Given the description of an element on the screen output the (x, y) to click on. 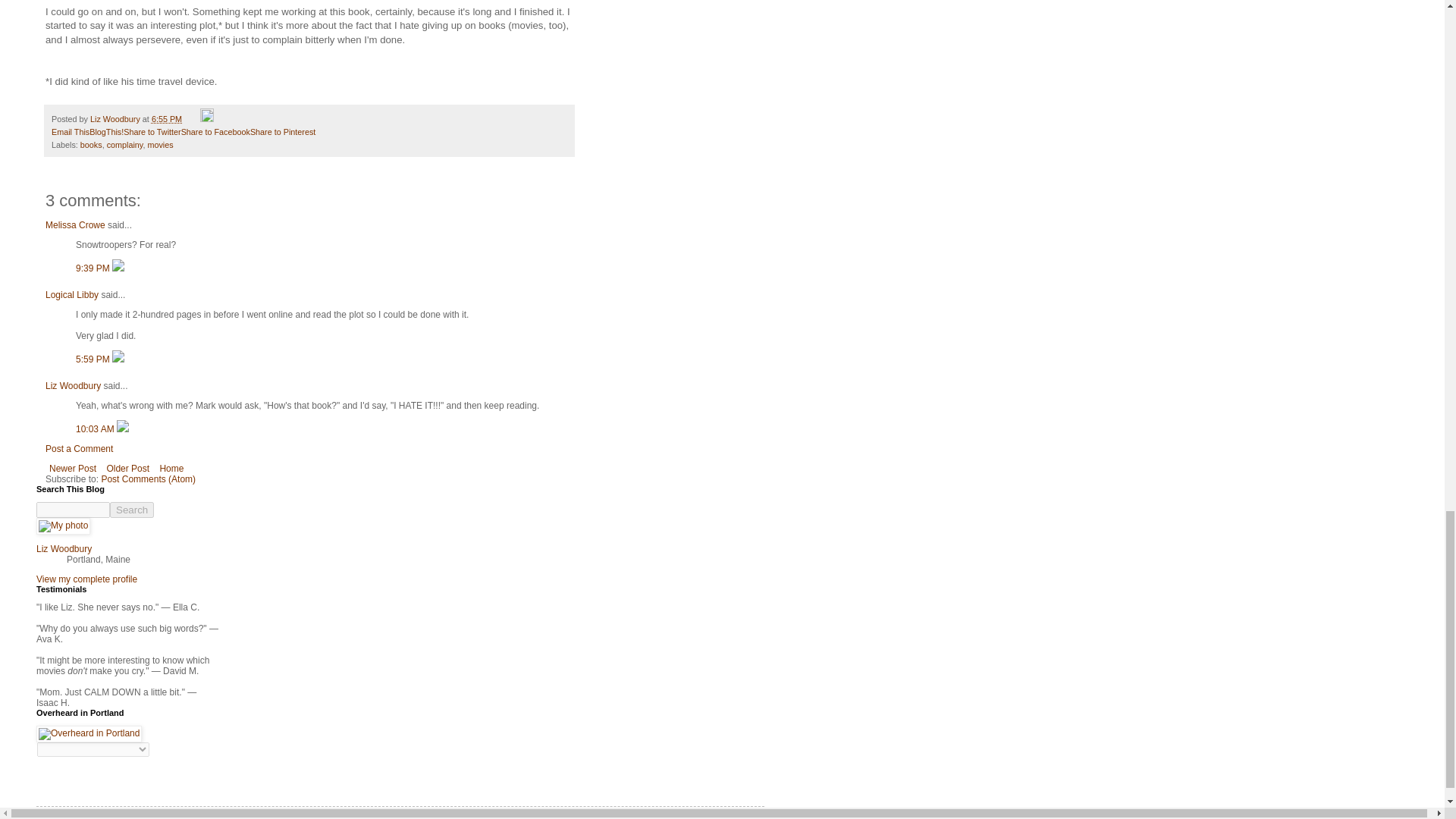
books (90, 144)
Share to Twitter (151, 131)
9:39 PM (93, 267)
Post a Comment (79, 448)
BlogThis! (105, 131)
Delete Comment (117, 267)
Liz Woodbury (72, 385)
Newer Post (72, 468)
Email Post (192, 118)
author profile (116, 118)
Melissa Crowe (74, 225)
movies (160, 144)
Liz Woodbury (116, 118)
Search (132, 509)
Older Post (126, 468)
